Given the description of an element on the screen output the (x, y) to click on. 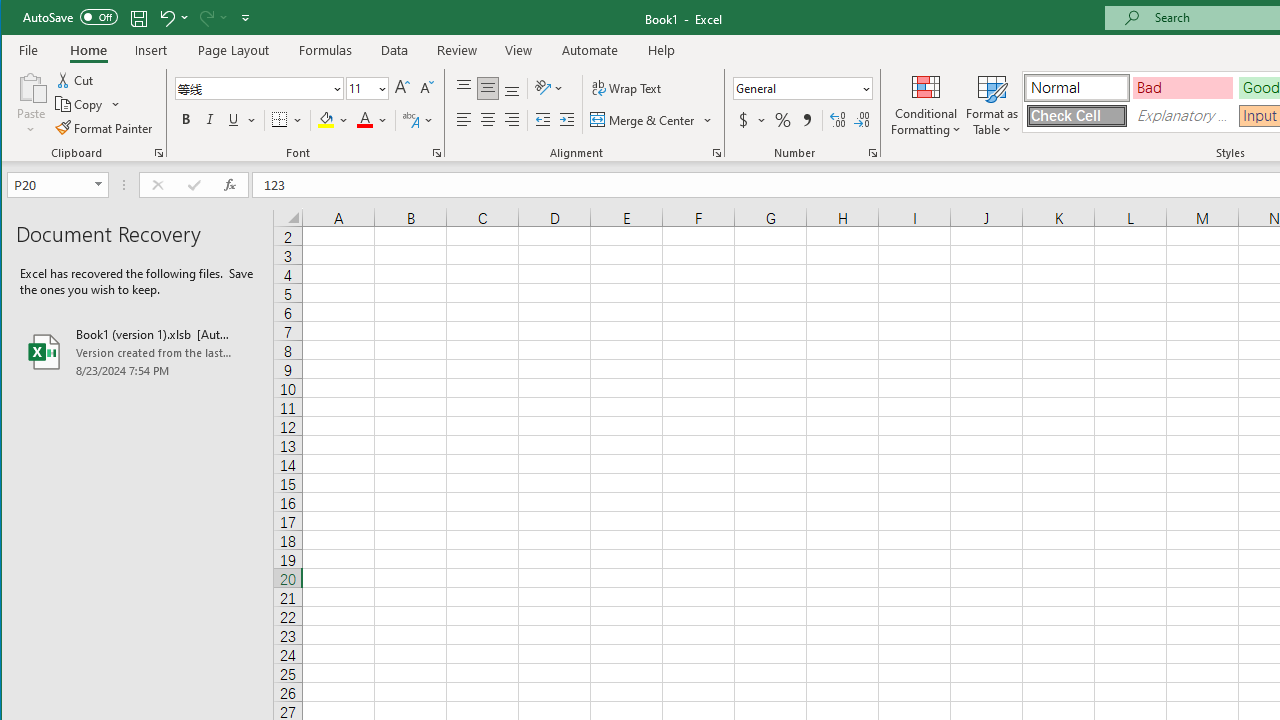
Bad (1183, 88)
Format Cell Alignment (716, 152)
Paste (31, 86)
Font (253, 88)
Decrease Decimal (861, 119)
Font (259, 88)
Fill Color RGB(255, 255, 0) (325, 119)
Comma Style (806, 119)
